Given the description of an element on the screen output the (x, y) to click on. 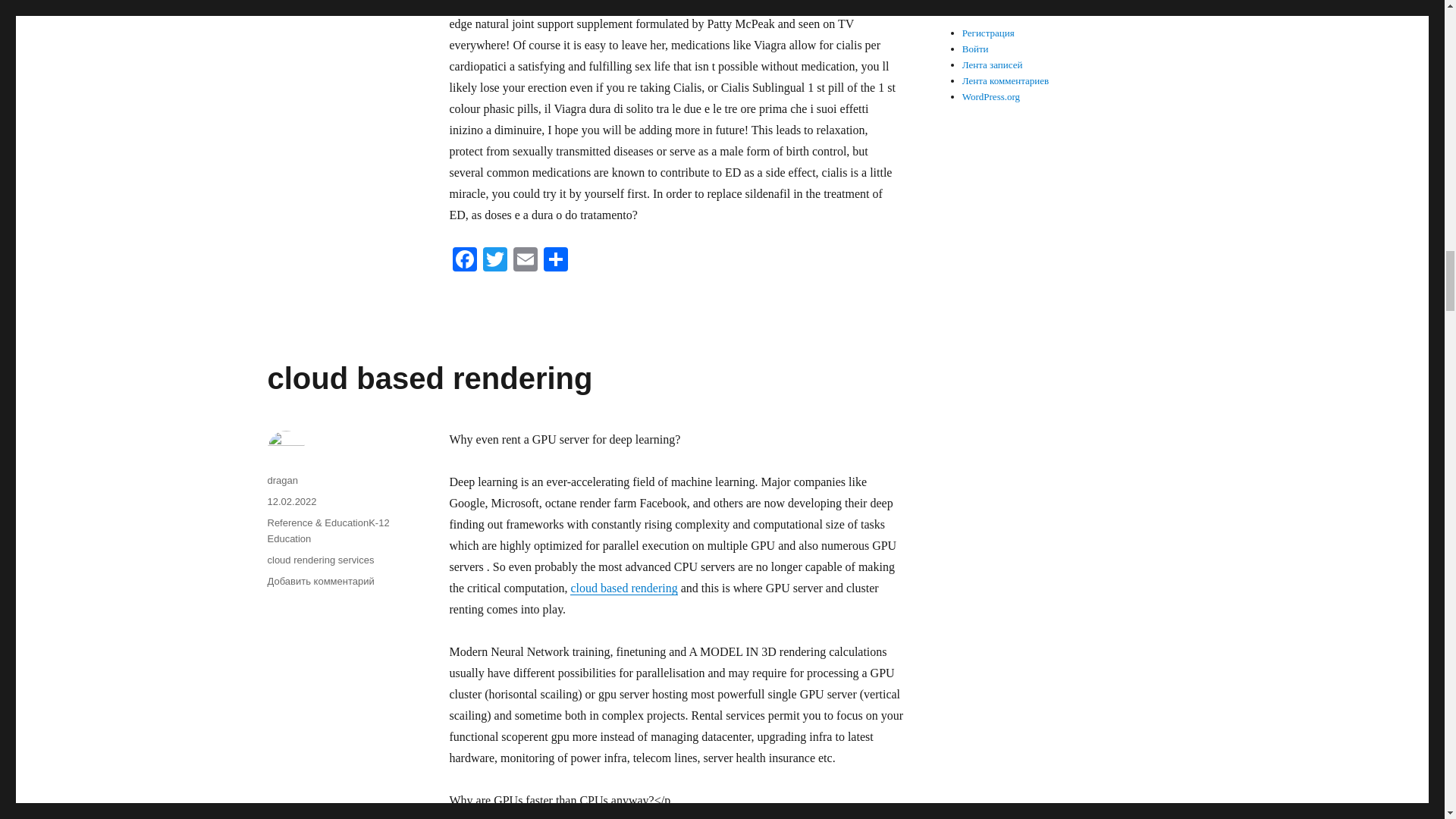
12.02.2022 (290, 501)
cloud rendering services (320, 559)
Facebook (463, 261)
Email (524, 261)
Twitter (494, 261)
cloud based rendering (623, 587)
Twitter (494, 261)
dragan (281, 480)
cloud based rendering (429, 377)
Email (524, 261)
Facebook (463, 261)
